Given the description of an element on the screen output the (x, y) to click on. 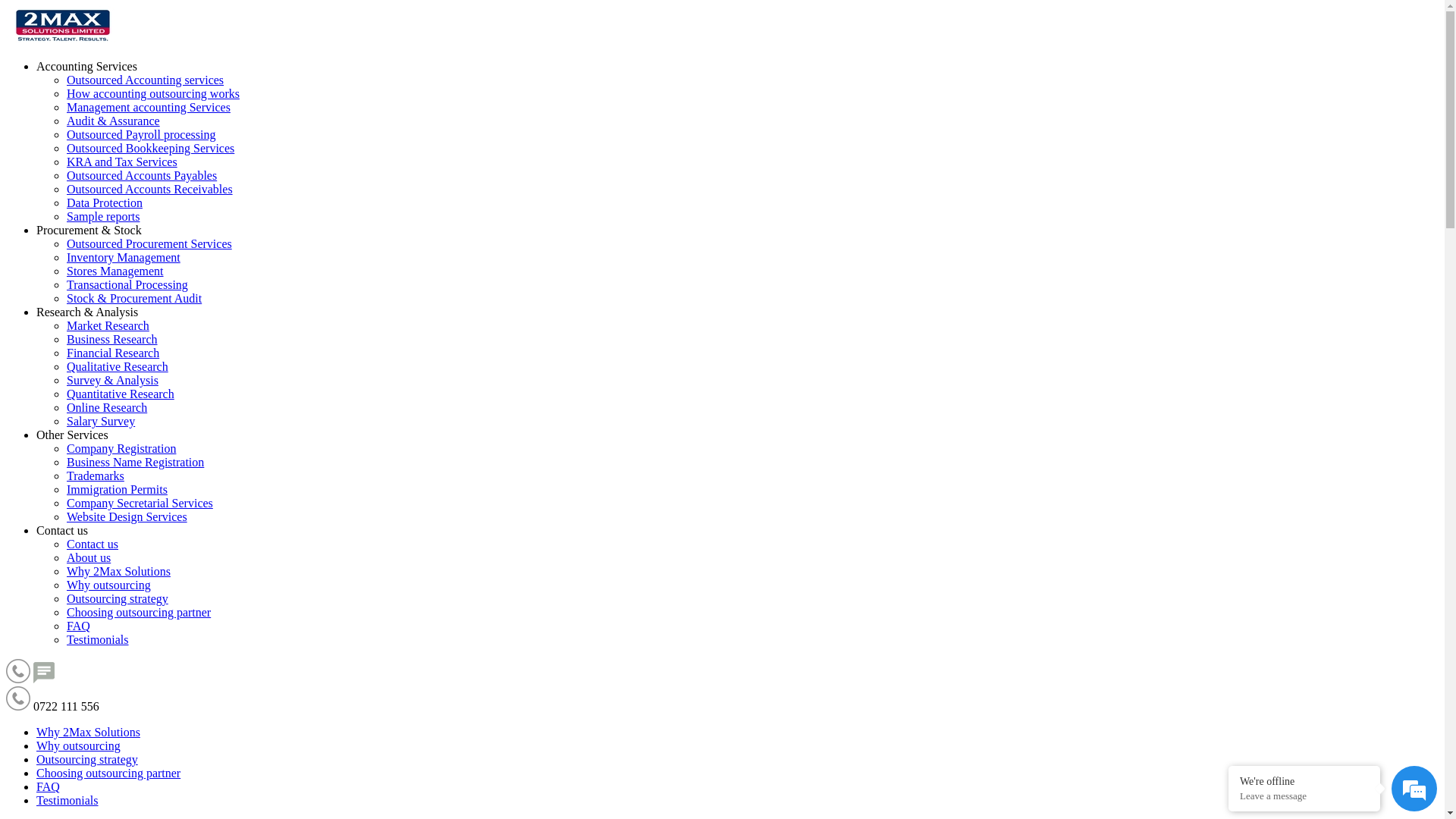
Data Protection Element type: text (104, 202)
About us Element type: text (88, 557)
Outsourced Accounts Payables Element type: text (141, 175)
Accounting Services Element type: text (86, 65)
Market Research Element type: text (107, 325)
Website Design Services Element type: text (126, 516)
Company Secretarial Services Element type: text (139, 502)
Testimonials Element type: text (97, 639)
Transactional Processing Element type: text (127, 284)
Stock & Procurement Audit Element type: text (133, 297)
Outsourced Bookkeeping Services Element type: text (150, 147)
Stores Management Element type: text (114, 270)
Online Research Element type: text (106, 407)
Financial Research Element type: text (112, 352)
Quantitative Research Element type: text (120, 393)
KRA and Tax Services Element type: text (121, 161)
FAQ Element type: text (78, 625)
Why outsourcing Element type: text (108, 584)
Qualitative Research Element type: text (117, 366)
Choosing outsourcing partner Element type: text (108, 772)
Business Research Element type: text (111, 338)
Procurement & Stock Element type: text (88, 229)
Sample reports Element type: text (102, 216)
Outsourced Accounts Receivables Element type: text (149, 188)
Trademarks Element type: text (95, 475)
Business Name Registration Element type: text (134, 461)
Management accounting Services Element type: text (148, 106)
Choosing outsourcing partner Element type: text (138, 611)
Contact us Element type: text (92, 543)
Why 2Max Solutions Element type: text (118, 570)
Survey & Analysis Element type: text (112, 379)
Outsourcing strategy Element type: text (87, 759)
Audit & Assurance Element type: text (113, 120)
Outsourced Payroll processing Element type: text (140, 134)
Outsourcing strategy Element type: text (117, 598)
Outsourced Procurement Services Element type: text (149, 243)
Inventory Management Element type: text (123, 257)
Outsourced Accounting services Element type: text (144, 79)
Research & Analysis Element type: text (87, 311)
Testimonials Element type: text (67, 799)
Other Services Element type: text (72, 434)
Why 2Max Solutions Element type: text (88, 731)
How accounting outsourcing works Element type: text (152, 93)
Why outsourcing Element type: text (78, 745)
Salary Survey Element type: text (100, 420)
Company Registration Element type: text (120, 448)
Immigration Permits Element type: text (116, 489)
FAQ Element type: text (47, 786)
Contact us Element type: text (61, 530)
